Given the description of an element on the screen output the (x, y) to click on. 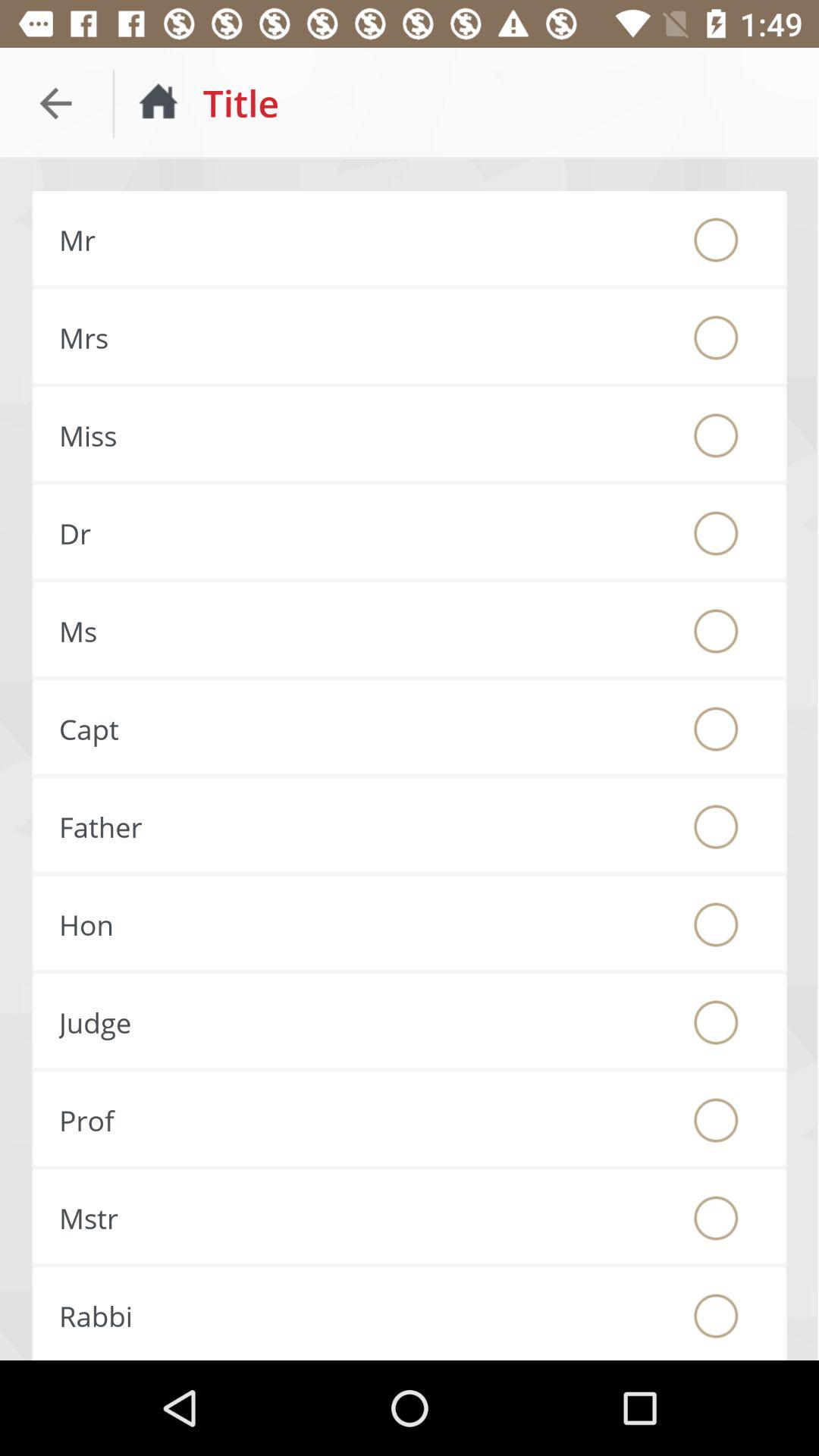
select title (715, 631)
